Given the description of an element on the screen output the (x, y) to click on. 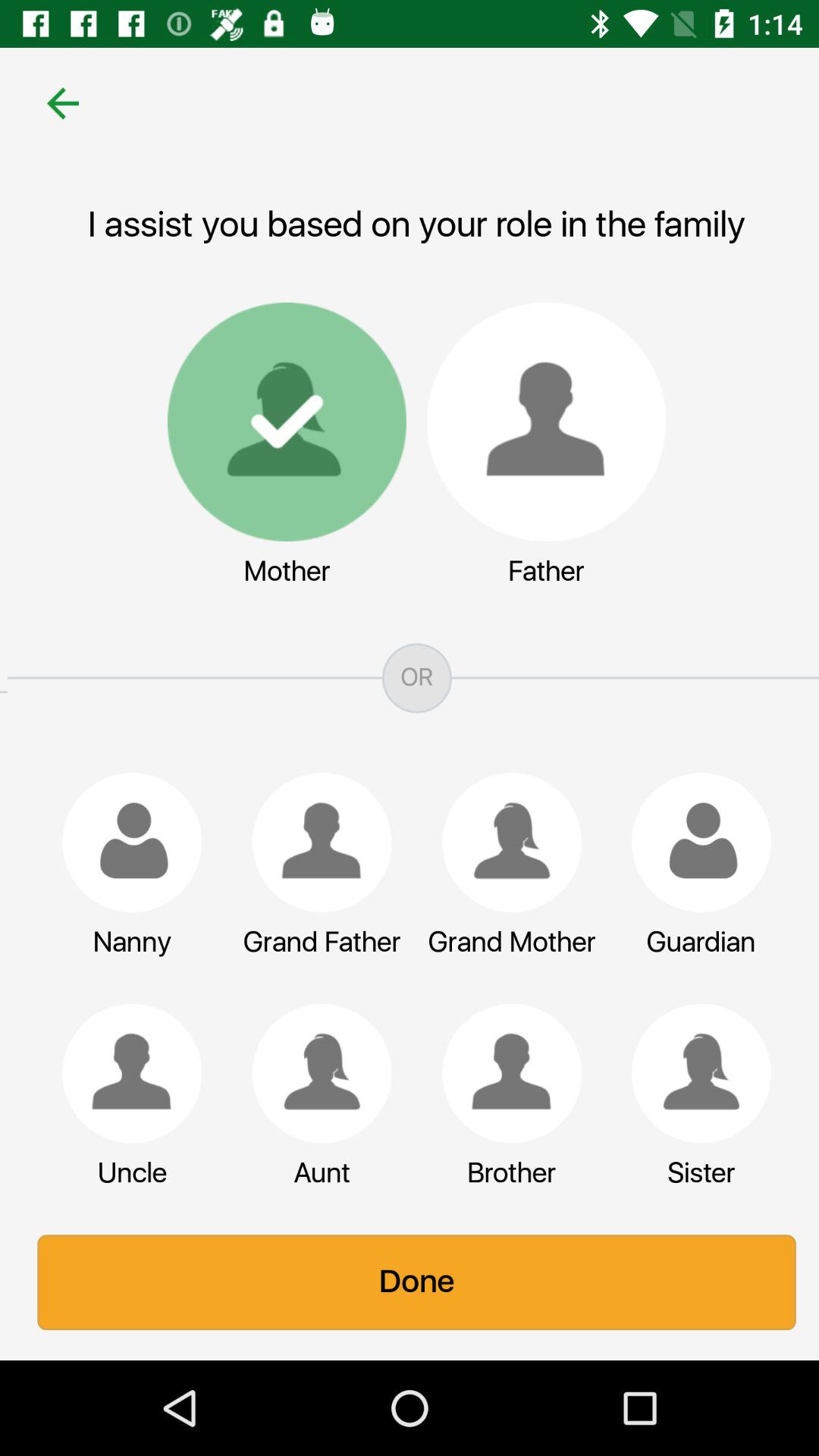
select guardian (693, 842)
